Given the description of an element on the screen output the (x, y) to click on. 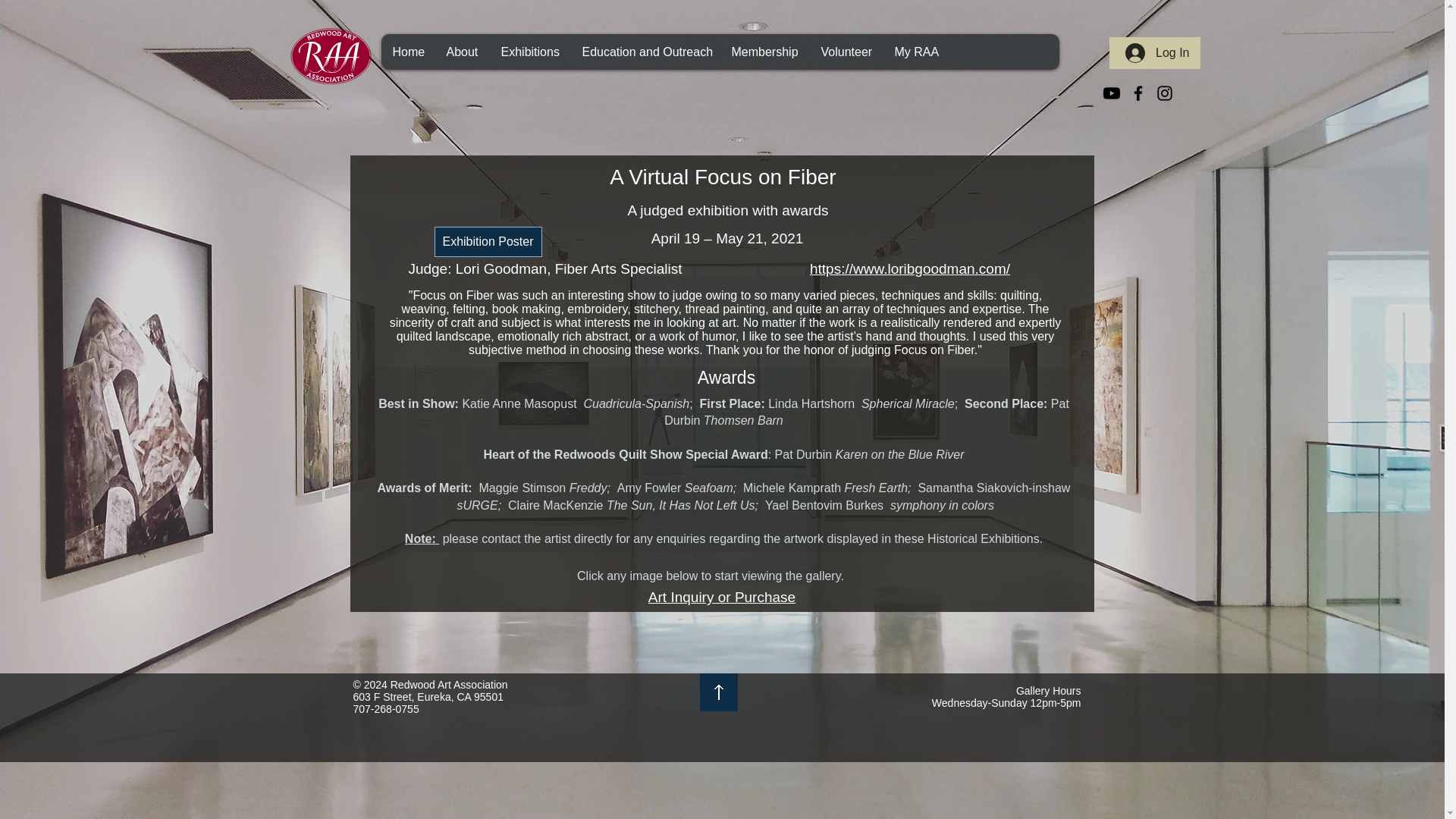
Log In (1157, 52)
Exhibition Poster (487, 241)
Education and Outreach (644, 51)
Volunteer (845, 51)
Home (406, 51)
Membership (763, 51)
My RAA (914, 51)
